Given the description of an element on the screen output the (x, y) to click on. 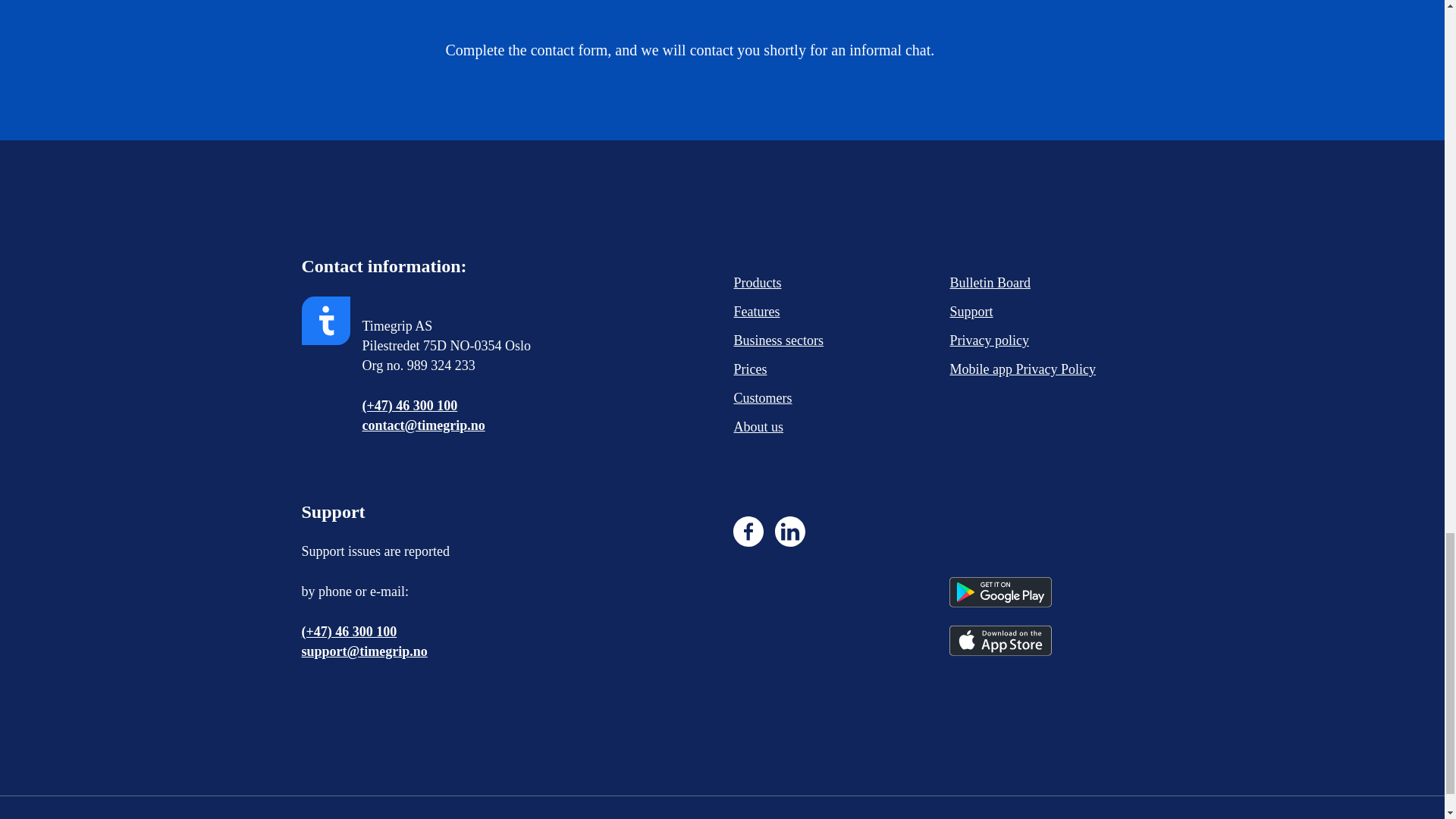
Prices (793, 369)
Products (793, 283)
Business sectors (793, 340)
Features (793, 311)
